Given the description of an element on the screen output the (x, y) to click on. 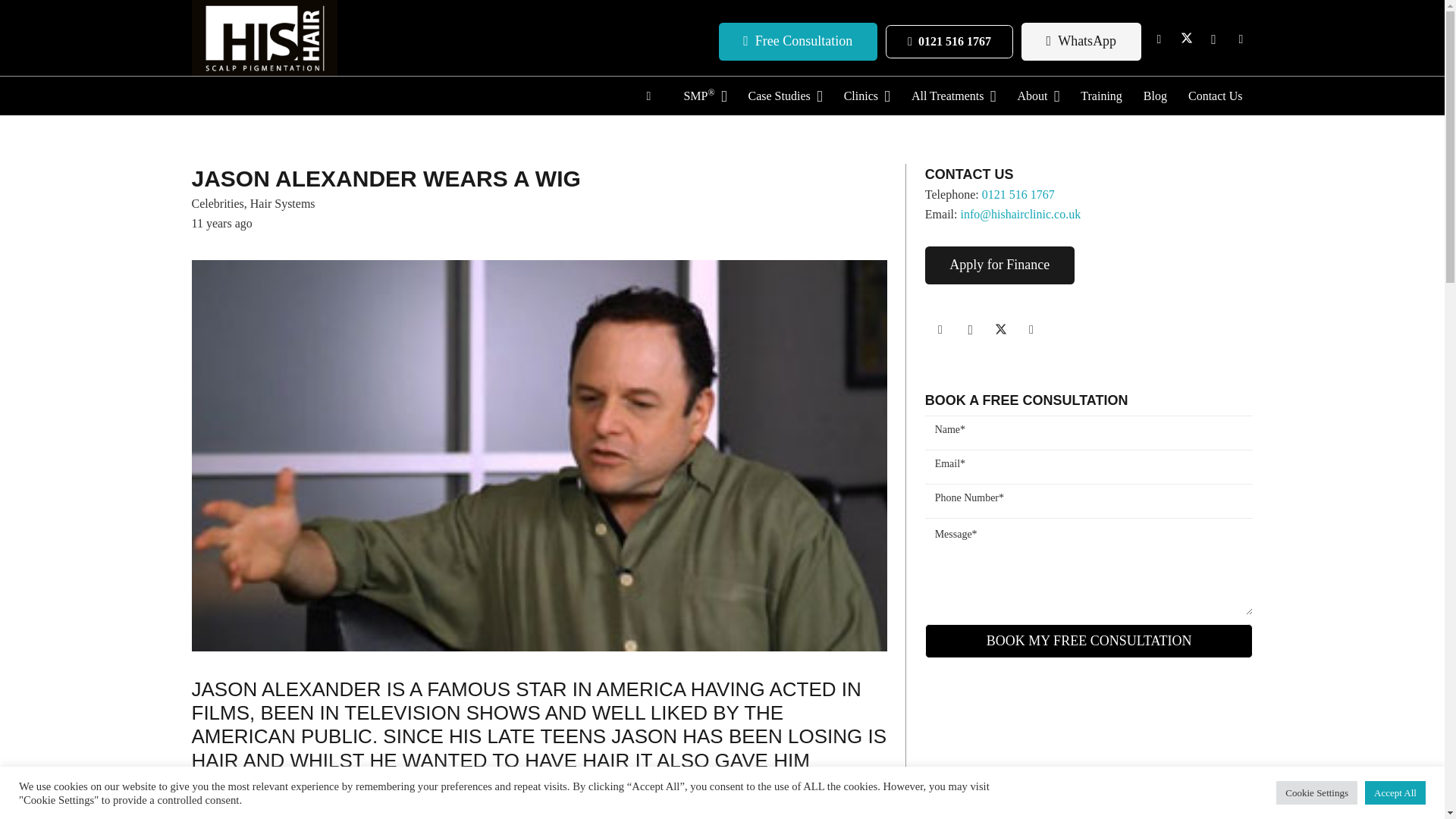
WhatsApp (1081, 41)
Clinics (866, 96)
Case Studies (784, 96)
BOOK MY FREE CONSULTATION (1088, 641)
All Treatments (953, 96)
Free Consultation (798, 41)
Twitter (1186, 39)
Instagram (1213, 39)
YouTube (1240, 39)
0121 516 1767 (948, 41)
